Given the description of an element on the screen output the (x, y) to click on. 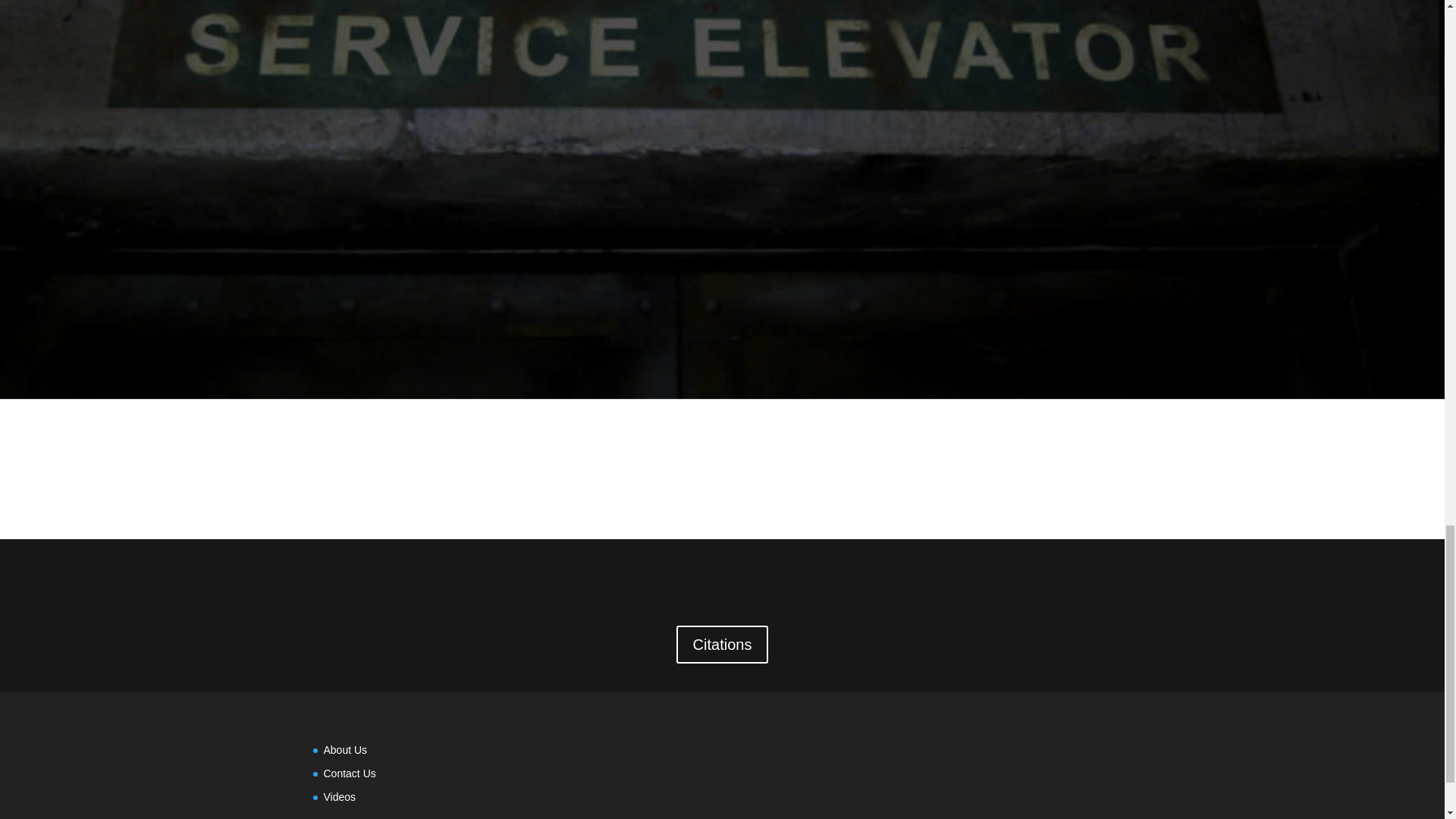
About Us (344, 749)
Citations (722, 644)
Videos (339, 797)
Contact Us (349, 773)
